Given the description of an element on the screen output the (x, y) to click on. 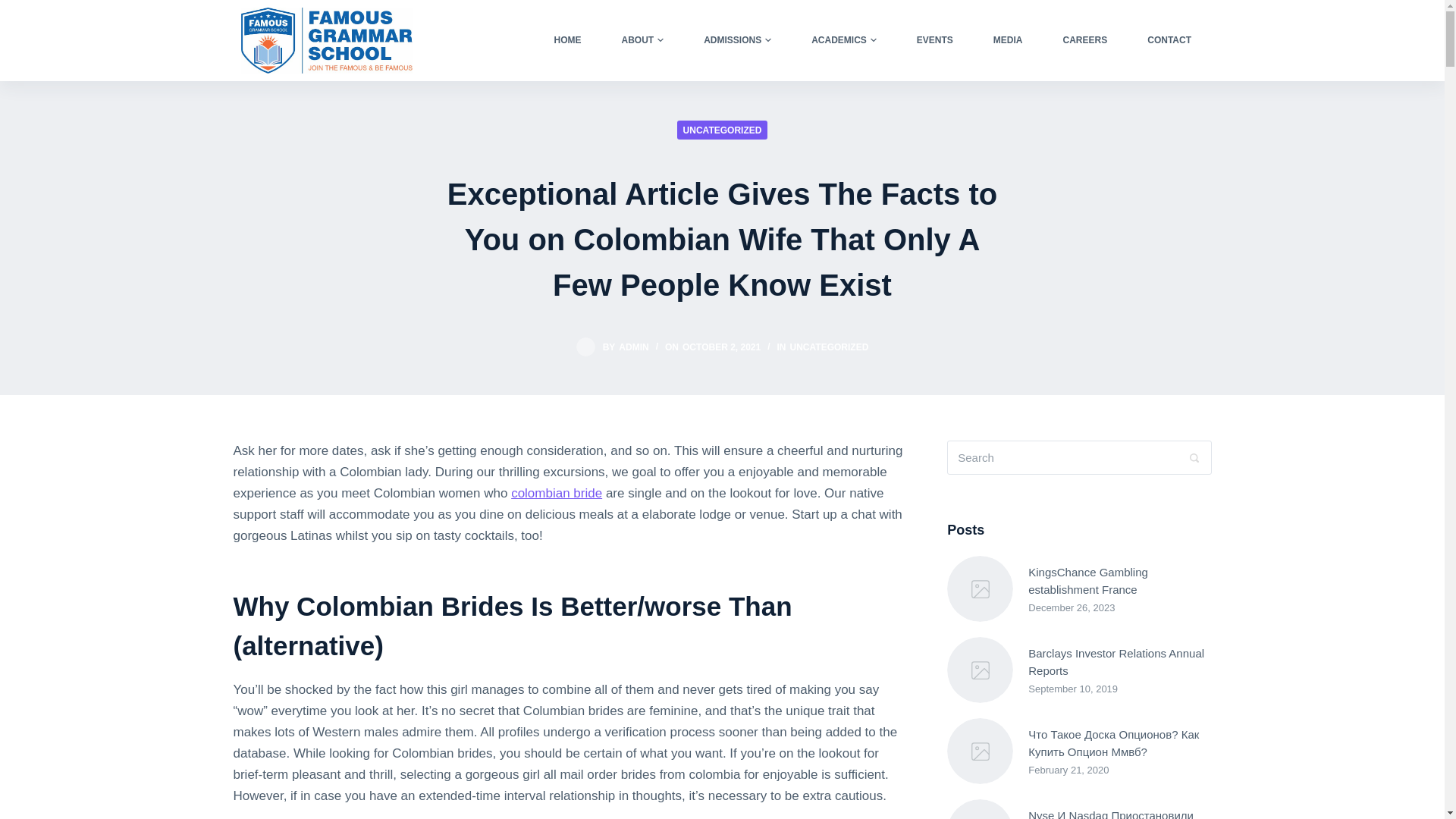
Skip to content (15, 7)
HOME (567, 39)
Posts by admin (632, 347)
Search Input (1079, 457)
